Given the description of an element on the screen output the (x, y) to click on. 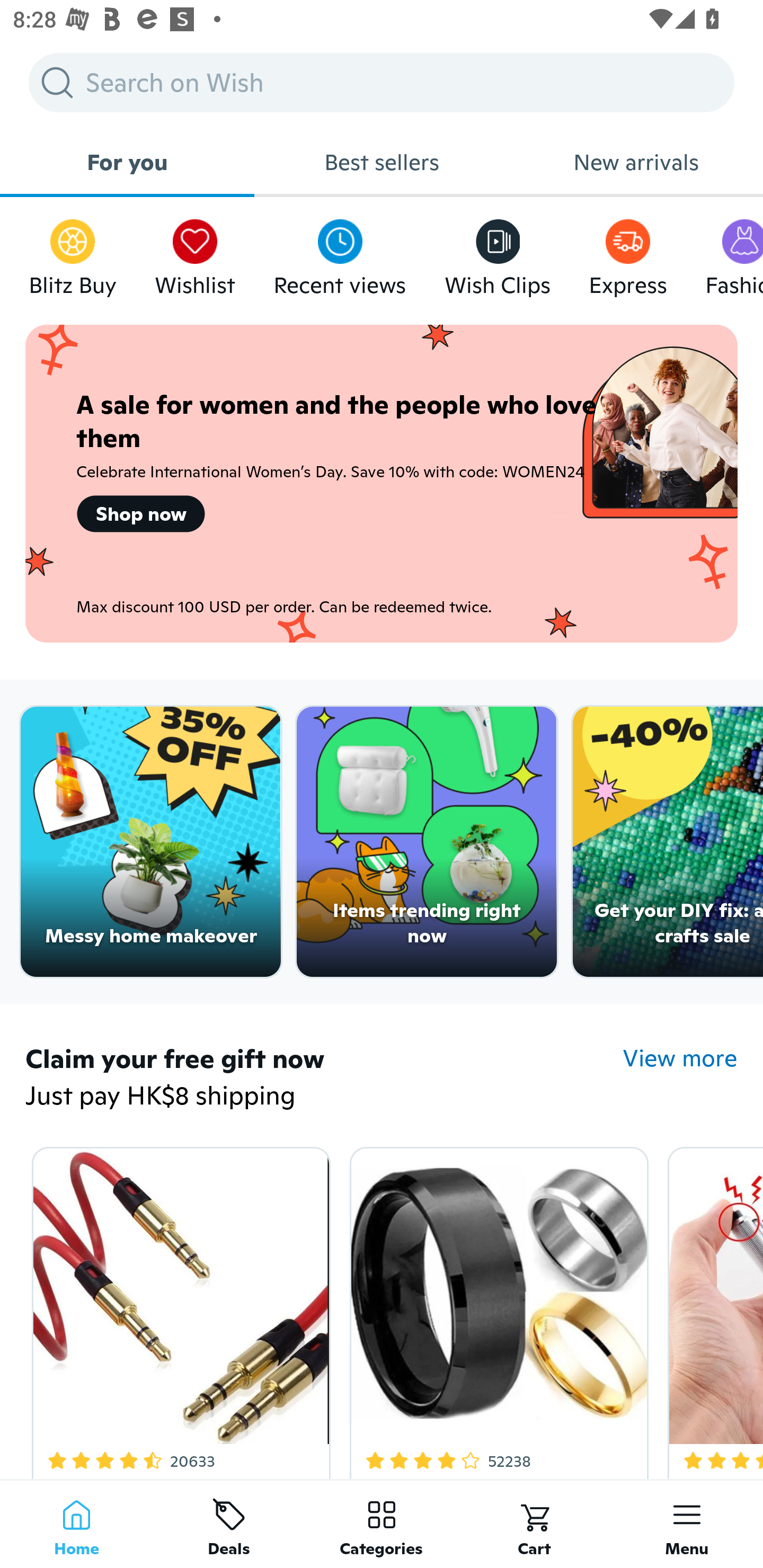
Search on Wish (381, 82)
For you (127, 161)
Best sellers (381, 161)
New arrivals (635, 161)
Blitz Buy (72, 252)
Wishlist (194, 252)
Recent views (339, 252)
Wish Clips (497, 252)
Express (627, 252)
Fashion (734, 252)
Messy home makeover (150, 841)
Items trending right now (426, 841)
Get your DIY fix: arts & crafts sale (668, 841)
Claim your free gift now
Just pay HK$8 shipping (323, 1078)
View more (679, 1058)
4.3 Star Rating 20633 Free (177, 1308)
4.2 Star Rating 52238 Free (495, 1308)
Home (76, 1523)
Deals (228, 1523)
Categories (381, 1523)
Cart (533, 1523)
Menu (686, 1523)
